Given the description of an element on the screen output the (x, y) to click on. 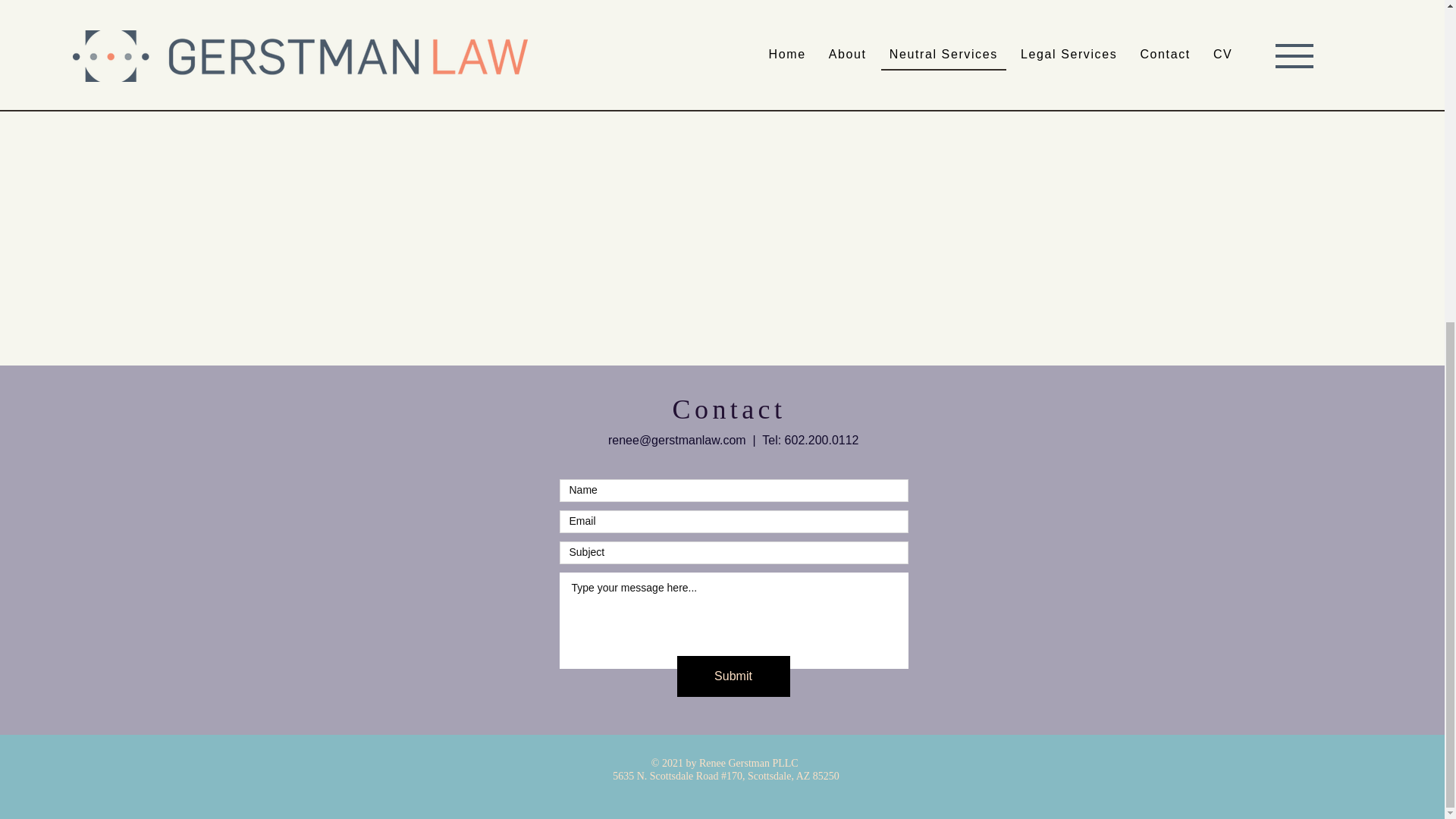
Submit (733, 676)
